Given the description of an element on the screen output the (x, y) to click on. 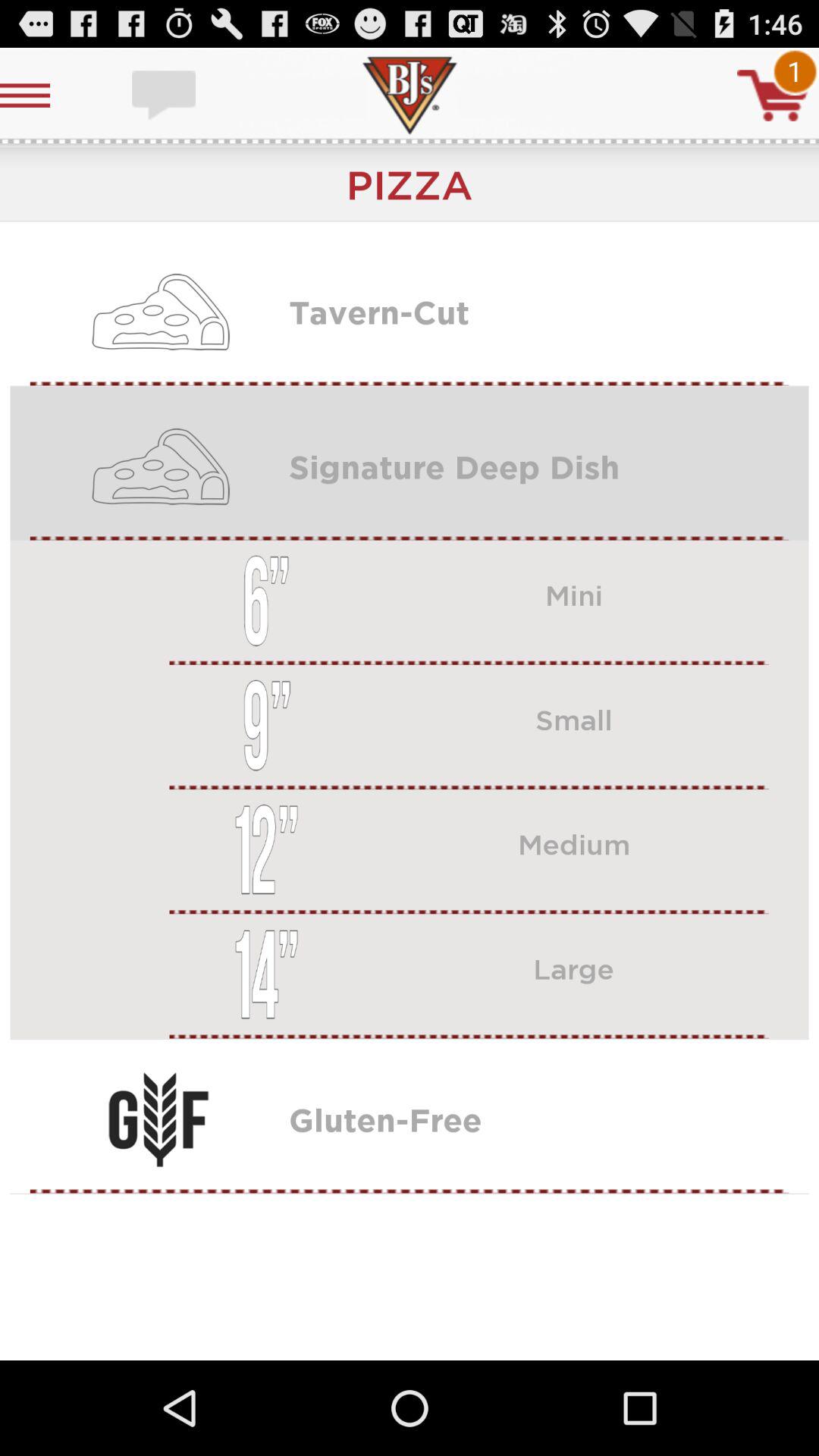
message (165, 95)
